Given the description of an element on the screen output the (x, y) to click on. 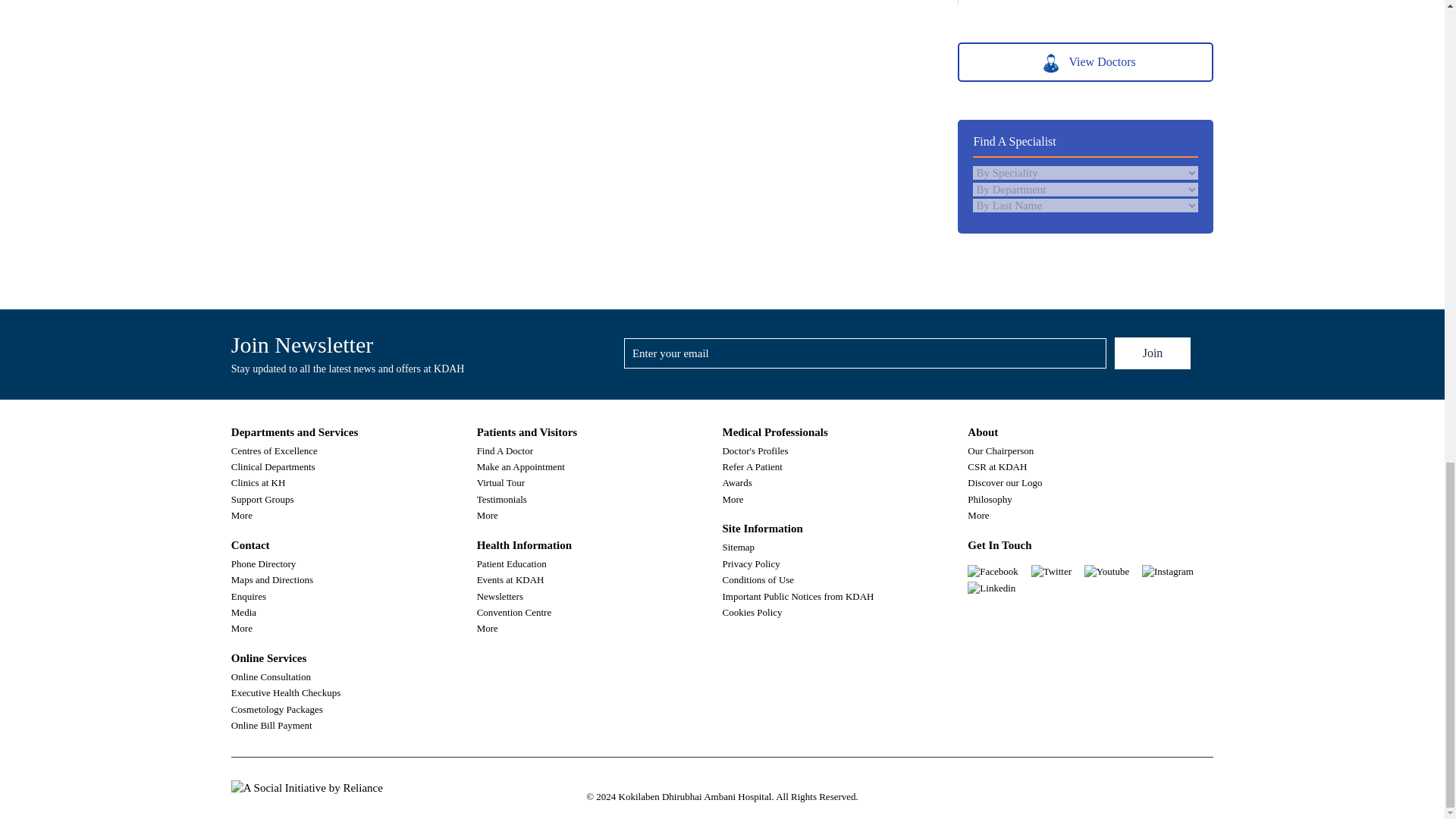
Join (1153, 353)
